Given the description of an element on the screen output the (x, y) to click on. 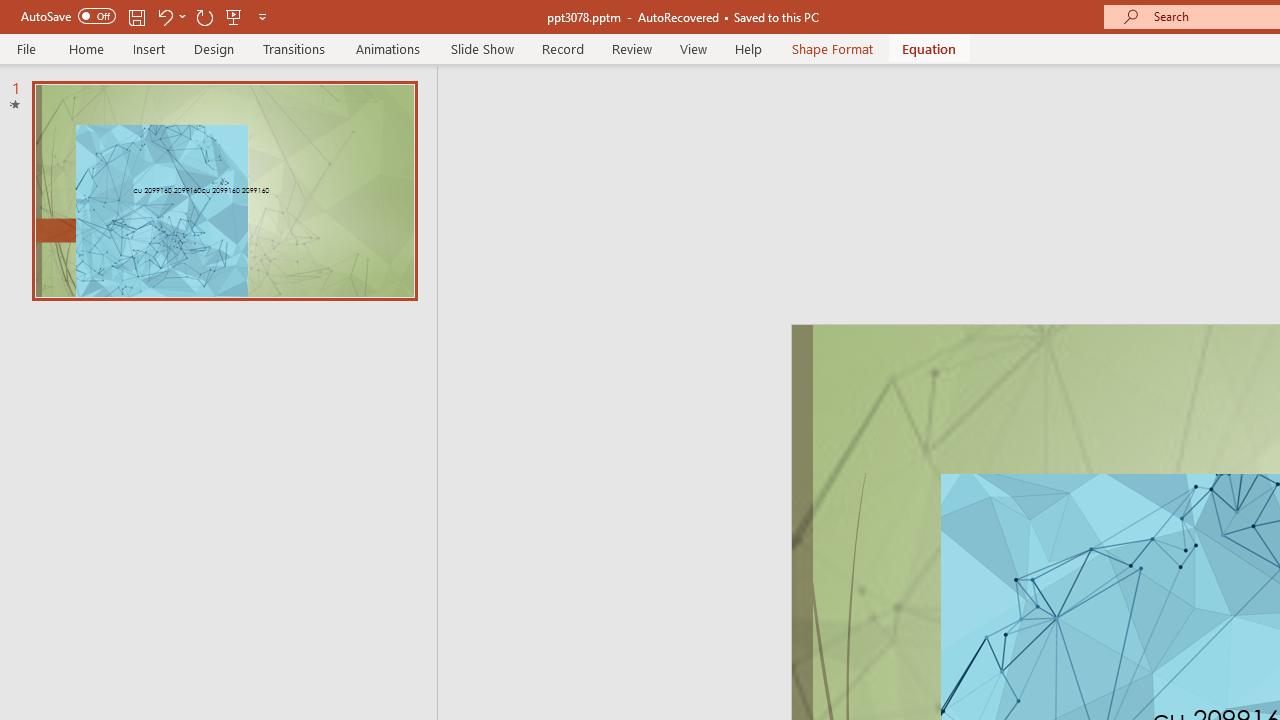
Equation (928, 48)
